Given the description of an element on the screen output the (x, y) to click on. 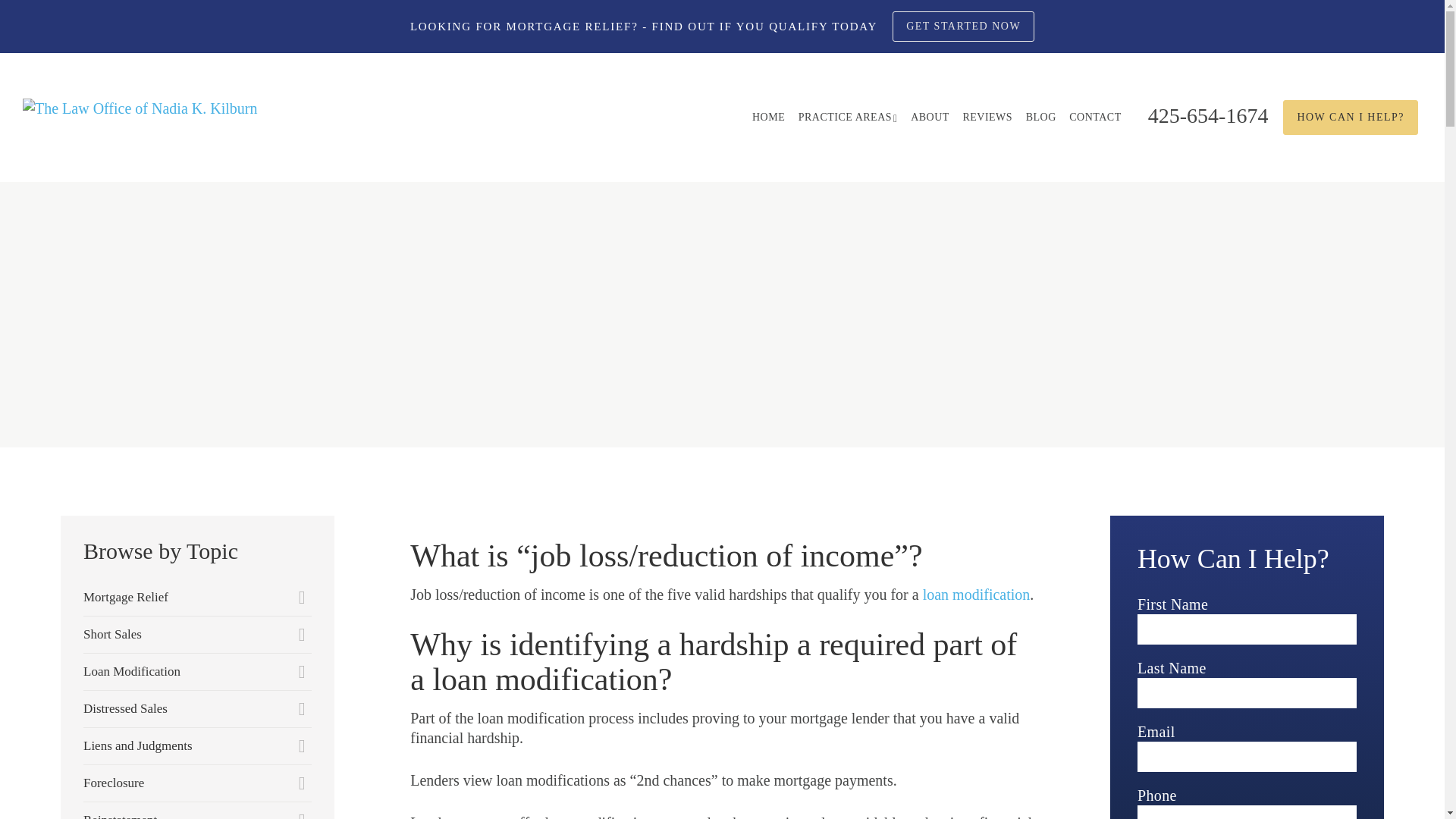
HOW CAN I HELP? (1350, 117)
loan modification (976, 594)
GET STARTED NOW (962, 26)
